Given the description of an element on the screen output the (x, y) to click on. 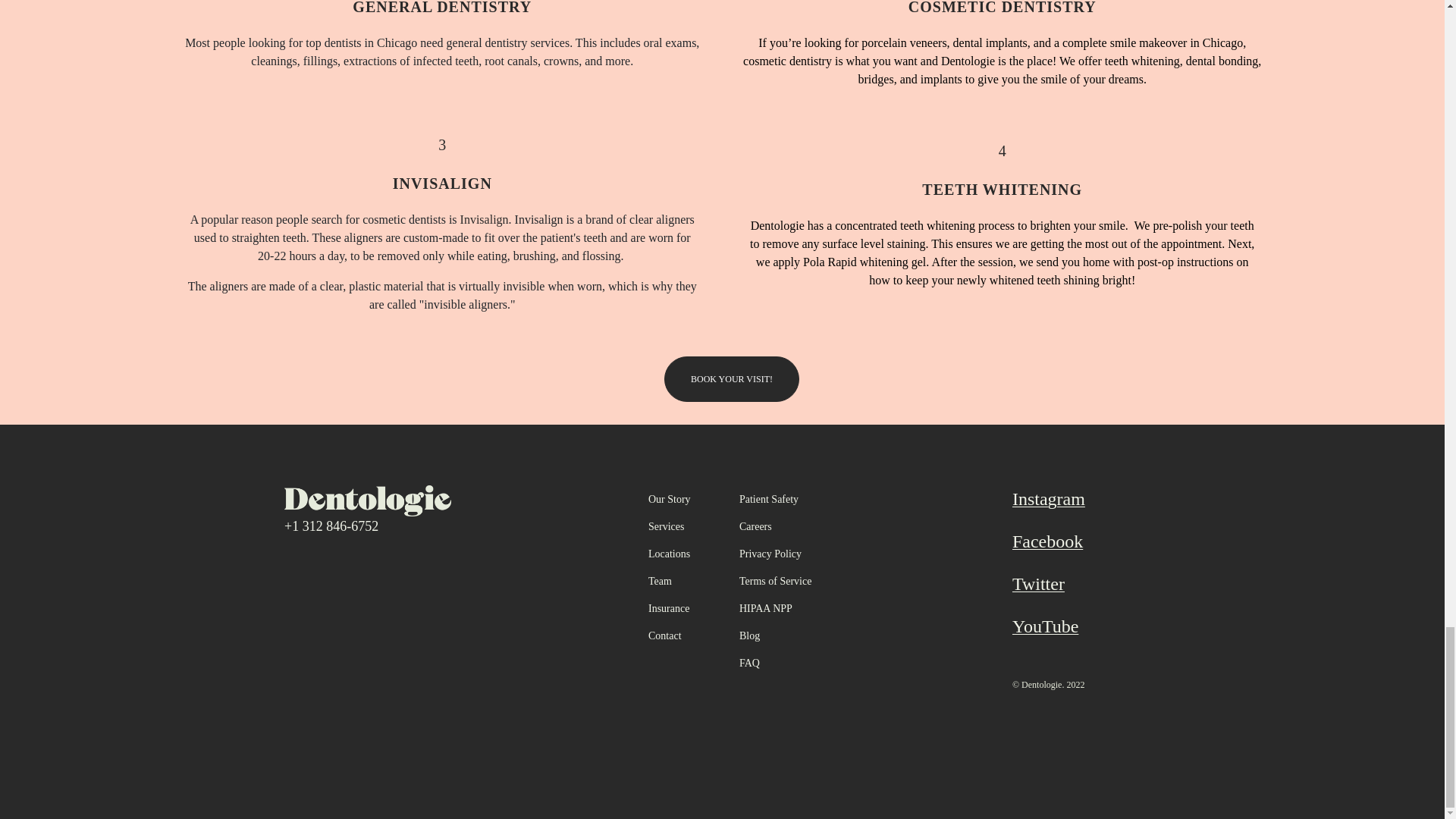
Dentologie logo (367, 500)
